Given the description of an element on the screen output the (x, y) to click on. 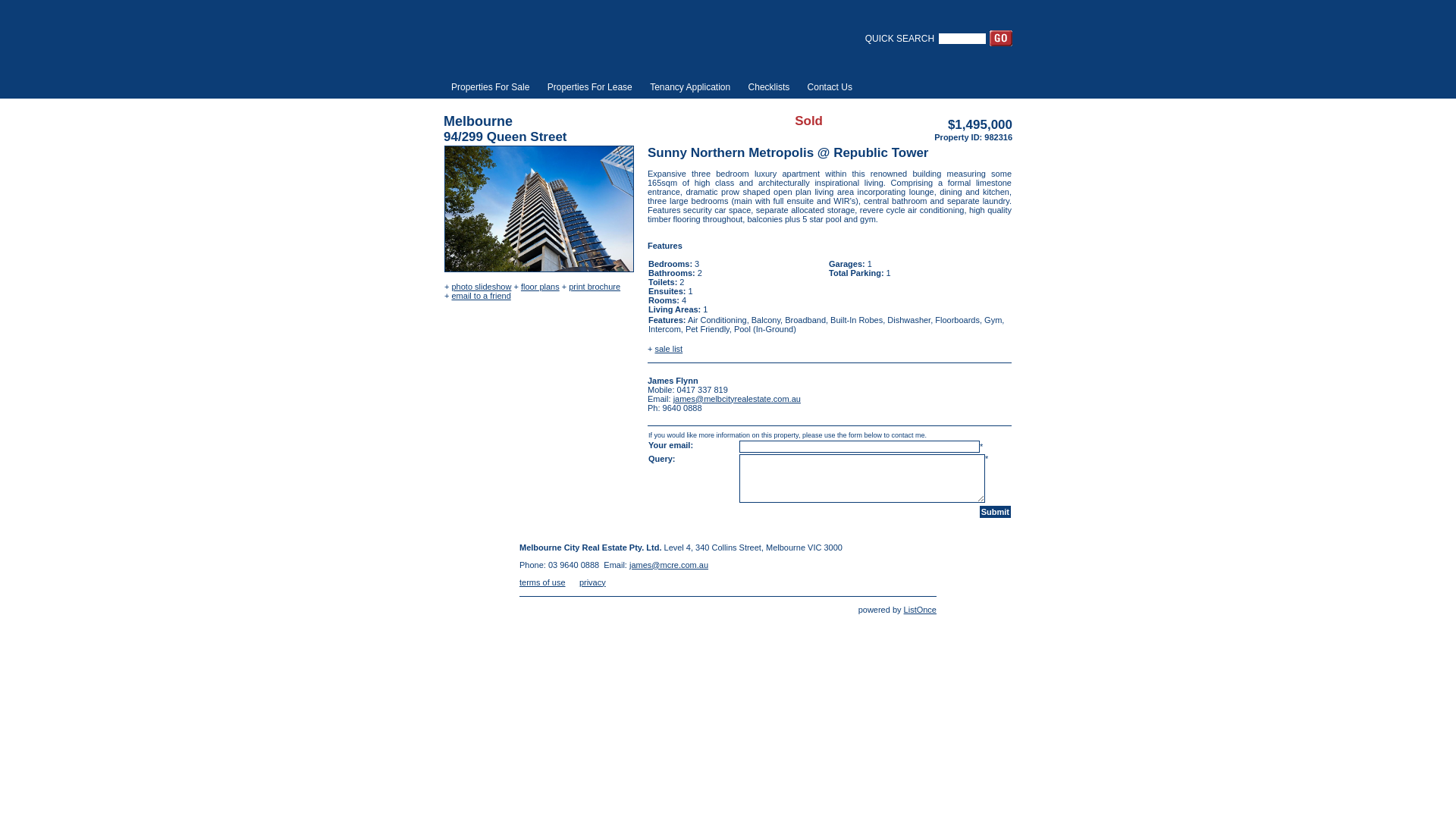
email to a friend Element type: text (480, 295)
floor plans Element type: text (539, 286)
Contact Us Element type: text (829, 87)
james@mcre.com.au Element type: text (668, 563)
Checklists Element type: text (768, 87)
sale list Element type: text (668, 348)
photo slideshow Element type: text (481, 286)
terms of use Element type: text (542, 581)
Properties For Lease Element type: text (589, 87)
Properties For Sale Element type: text (489, 87)
james@melbcityrealestate.com.au Element type: text (736, 398)
Submit Element type: text (994, 511)
Tenancy Application Element type: text (689, 87)
print brochure Element type: text (594, 286)
ListOnce Element type: text (919, 609)
privacy Element type: text (592, 581)
